Given the description of an element on the screen output the (x, y) to click on. 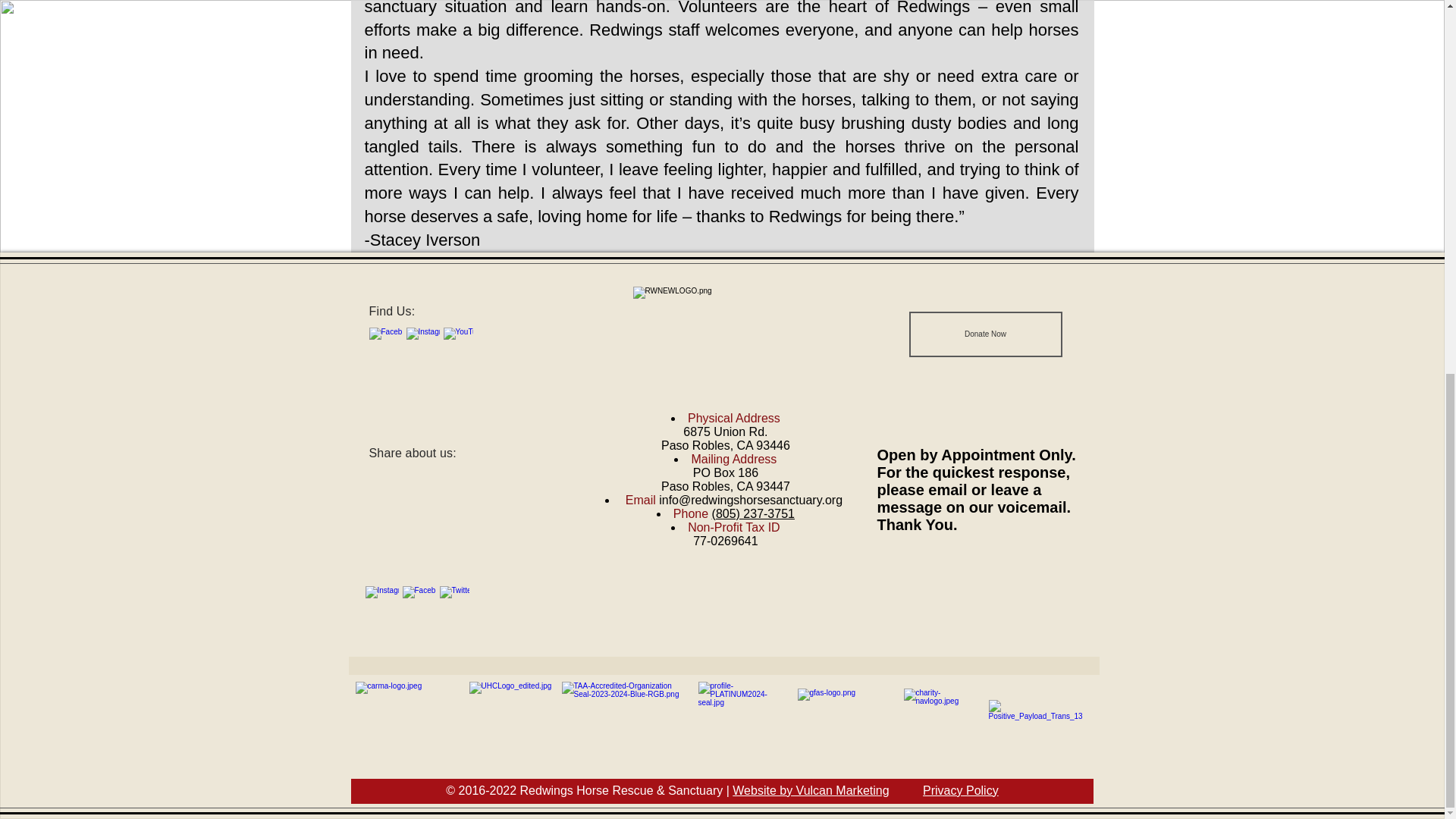
Website by Vulcan Marketing (810, 789)
Donate Now (984, 334)
